Given the description of an element on the screen output the (x, y) to click on. 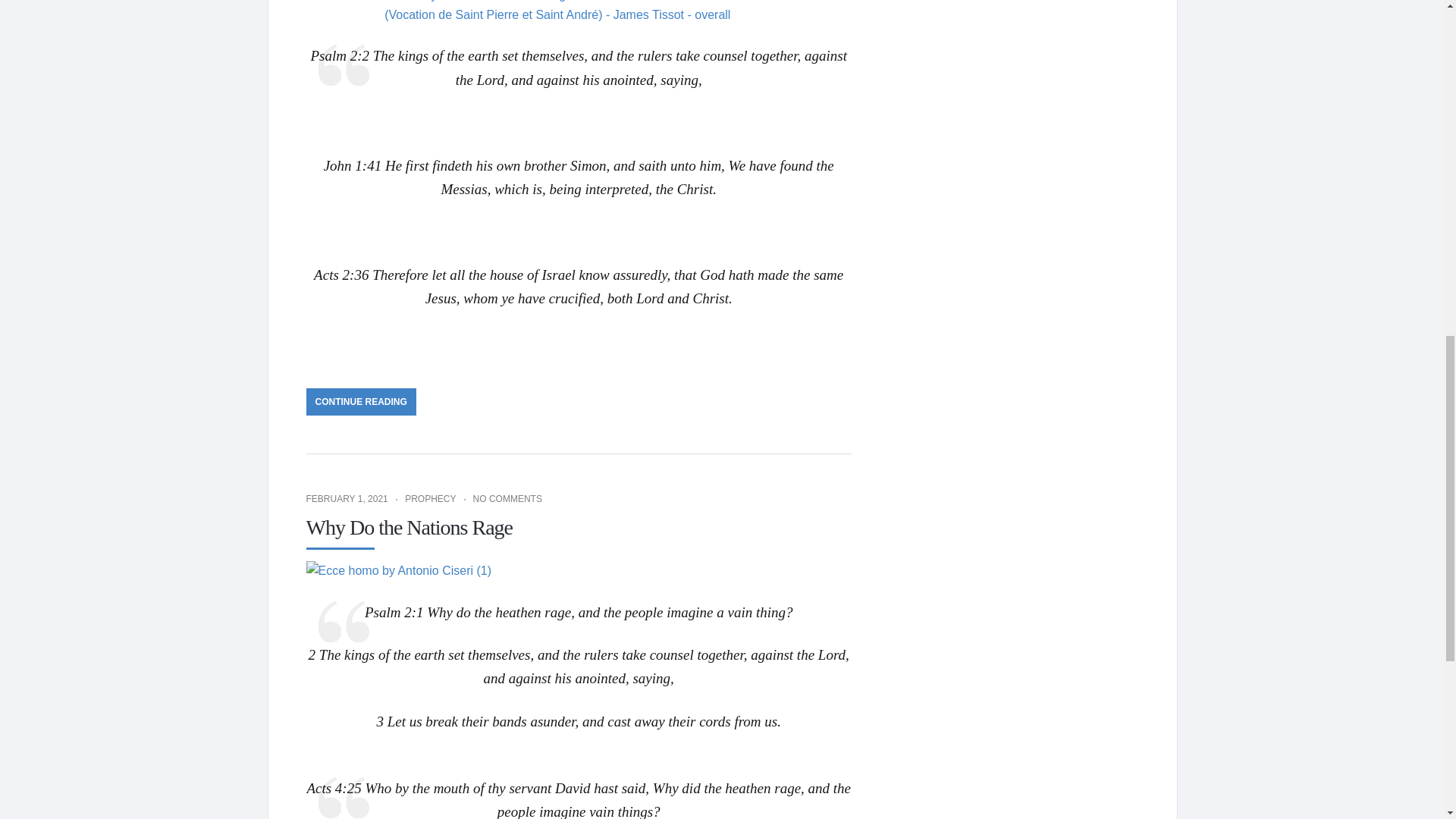
Why Do the Nations Rage (409, 526)
Antonio Ciseri , Public domain, via Wikimedia Commons (398, 570)
PROPHECY (429, 498)
CONTINUE READING (360, 401)
James Tissot , Public domain, via Wikimedia Commons (578, 12)
NO COMMENTS (507, 498)
